Given the description of an element on the screen output the (x, y) to click on. 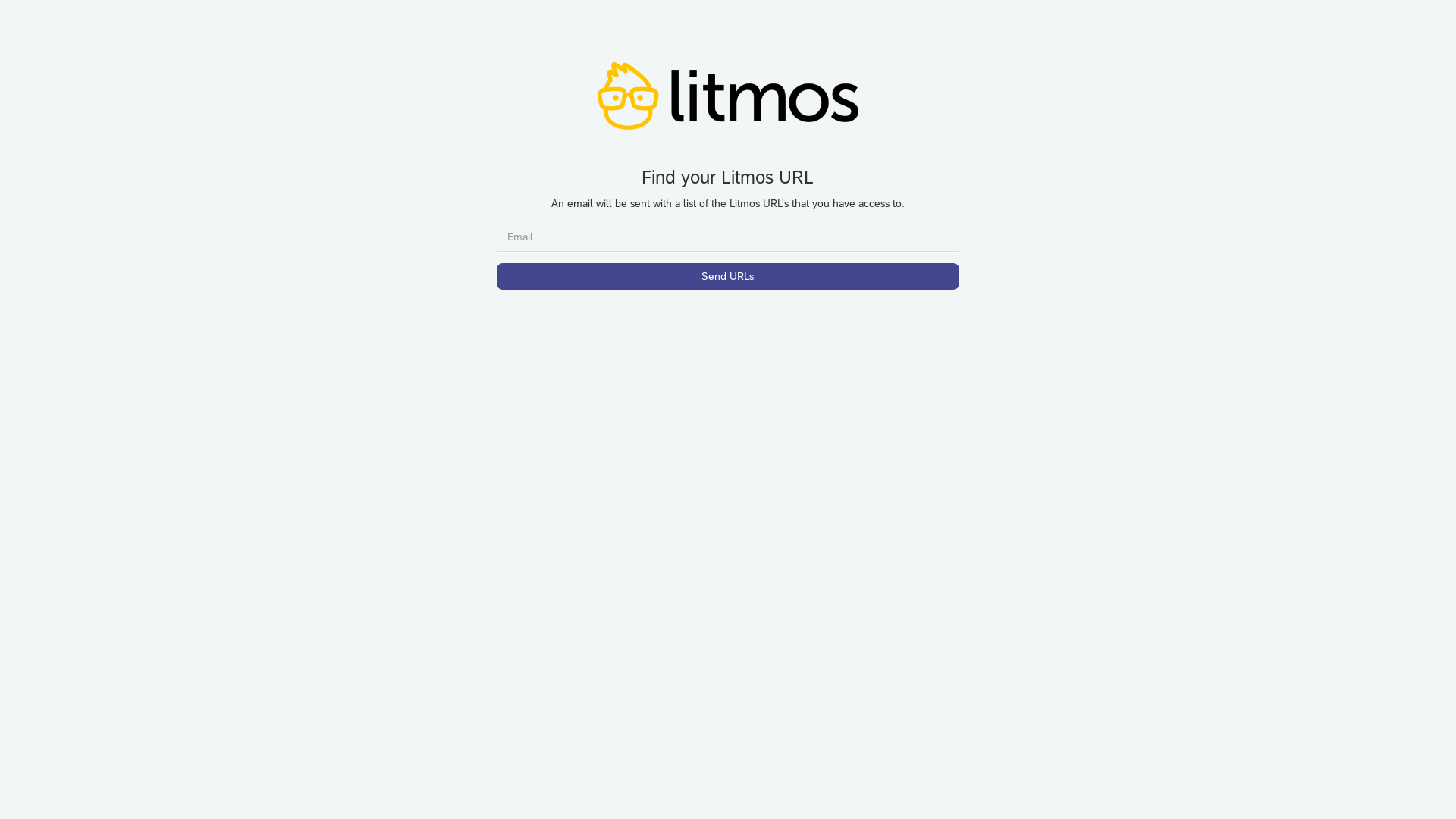
 Send URLs  Element type: text (727, 276)
